Given the description of an element on the screen output the (x, y) to click on. 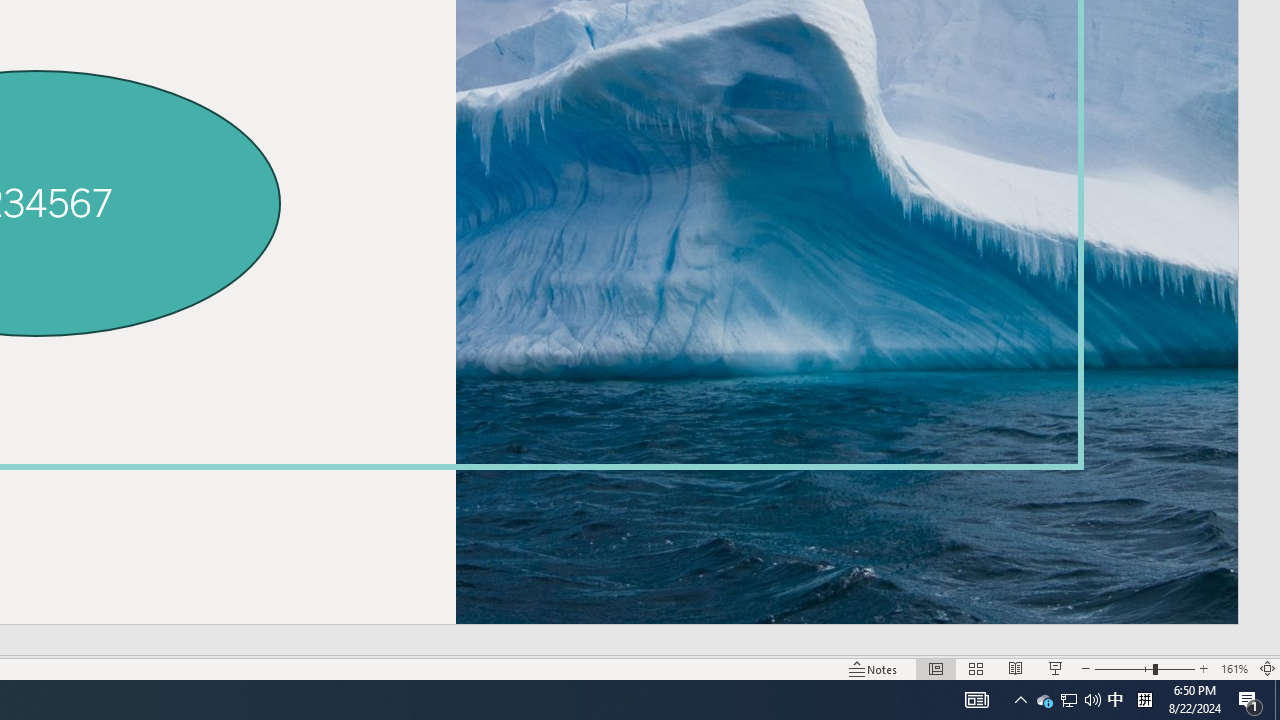
Zoom 161% (1234, 668)
